Given the description of an element on the screen output the (x, y) to click on. 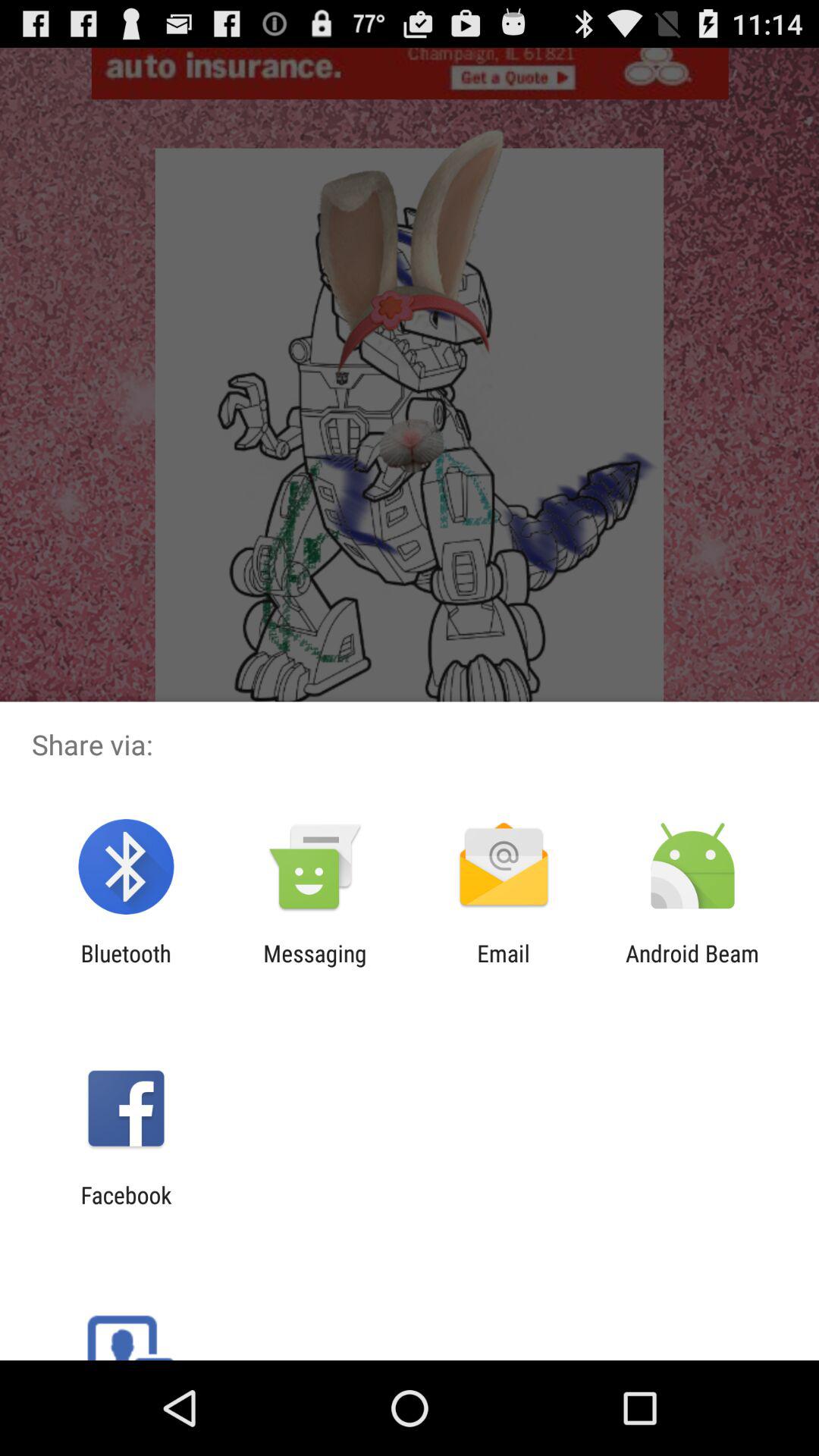
turn off item to the left of the email app (314, 966)
